Given the description of an element on the screen output the (x, y) to click on. 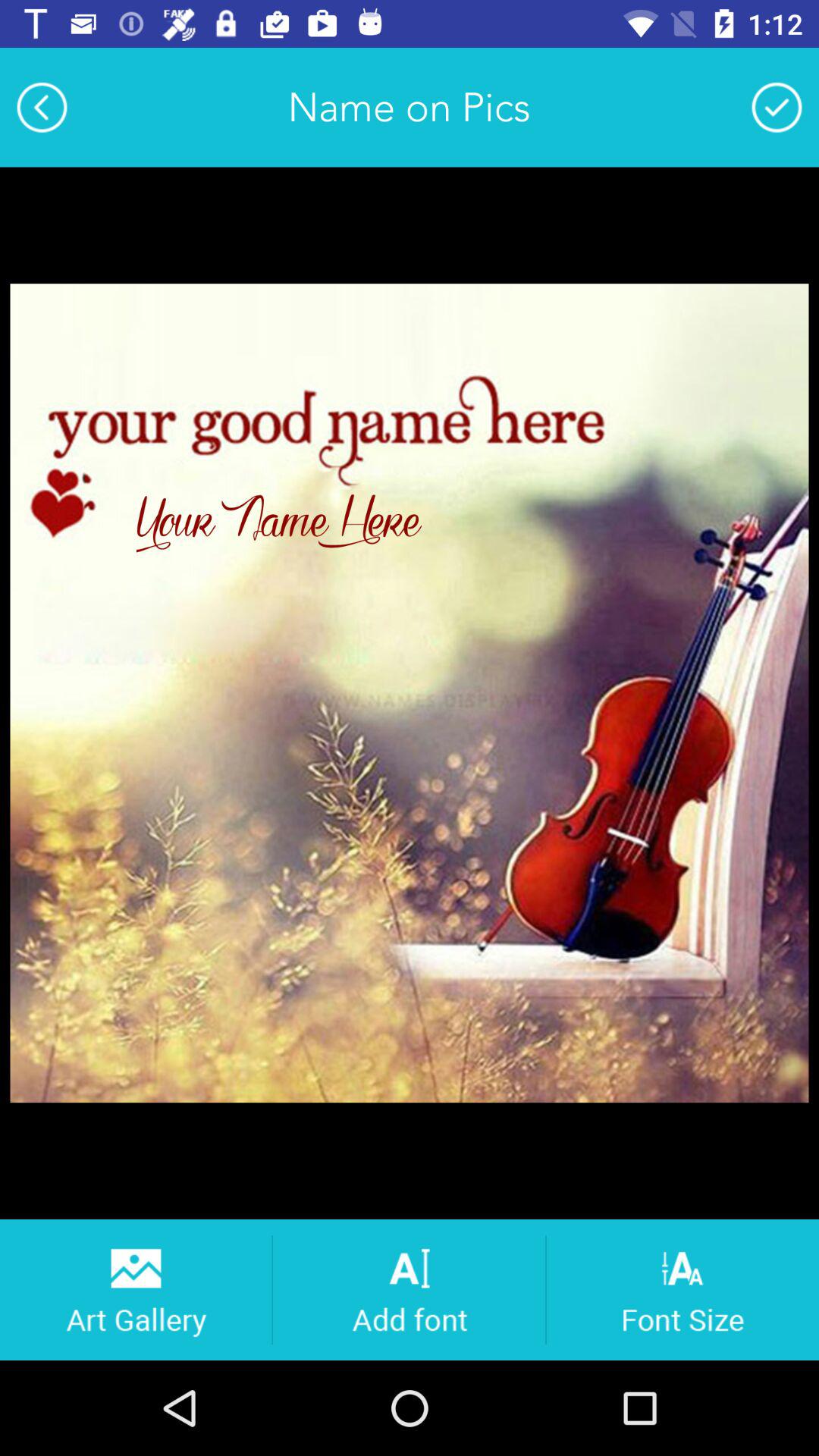
open art gallery go to art gallery (135, 1289)
